Given the description of an element on the screen output the (x, y) to click on. 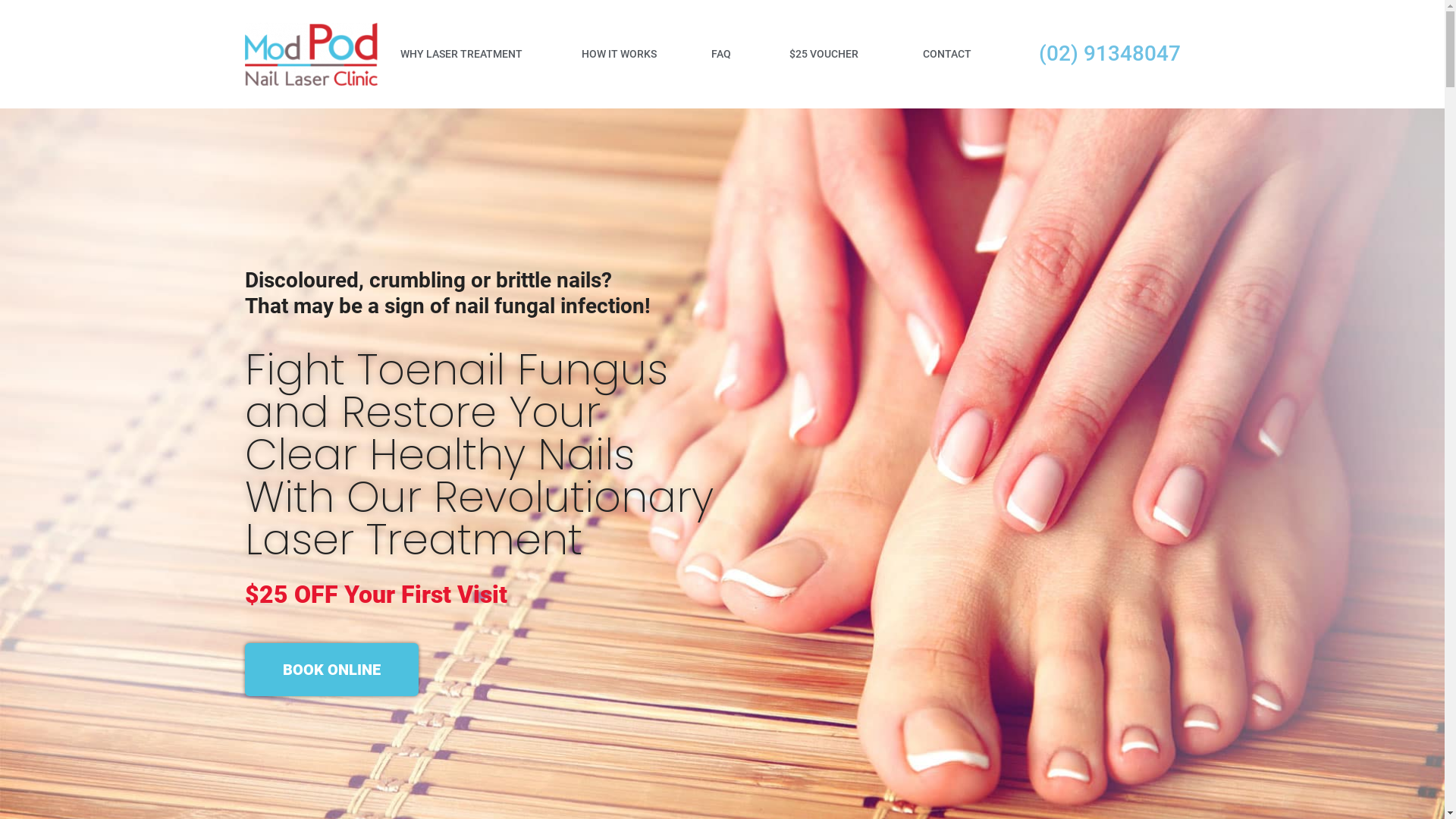
CONTACT Element type: text (946, 53)
$25 VOUCHER Element type: text (823, 53)
HOW IT WORKS Element type: text (618, 53)
FAQ Element type: text (721, 53)
BOOK ONLINE Element type: text (330, 669)
WHY LASER TREATMENT Element type: text (461, 53)
MPNC logo Element type: hover (310, 53)
(02) 91348047 Element type: text (1109, 52)
$25 OFF Your First Visit Element type: text (375, 596)
